Given the description of an element on the screen output the (x, y) to click on. 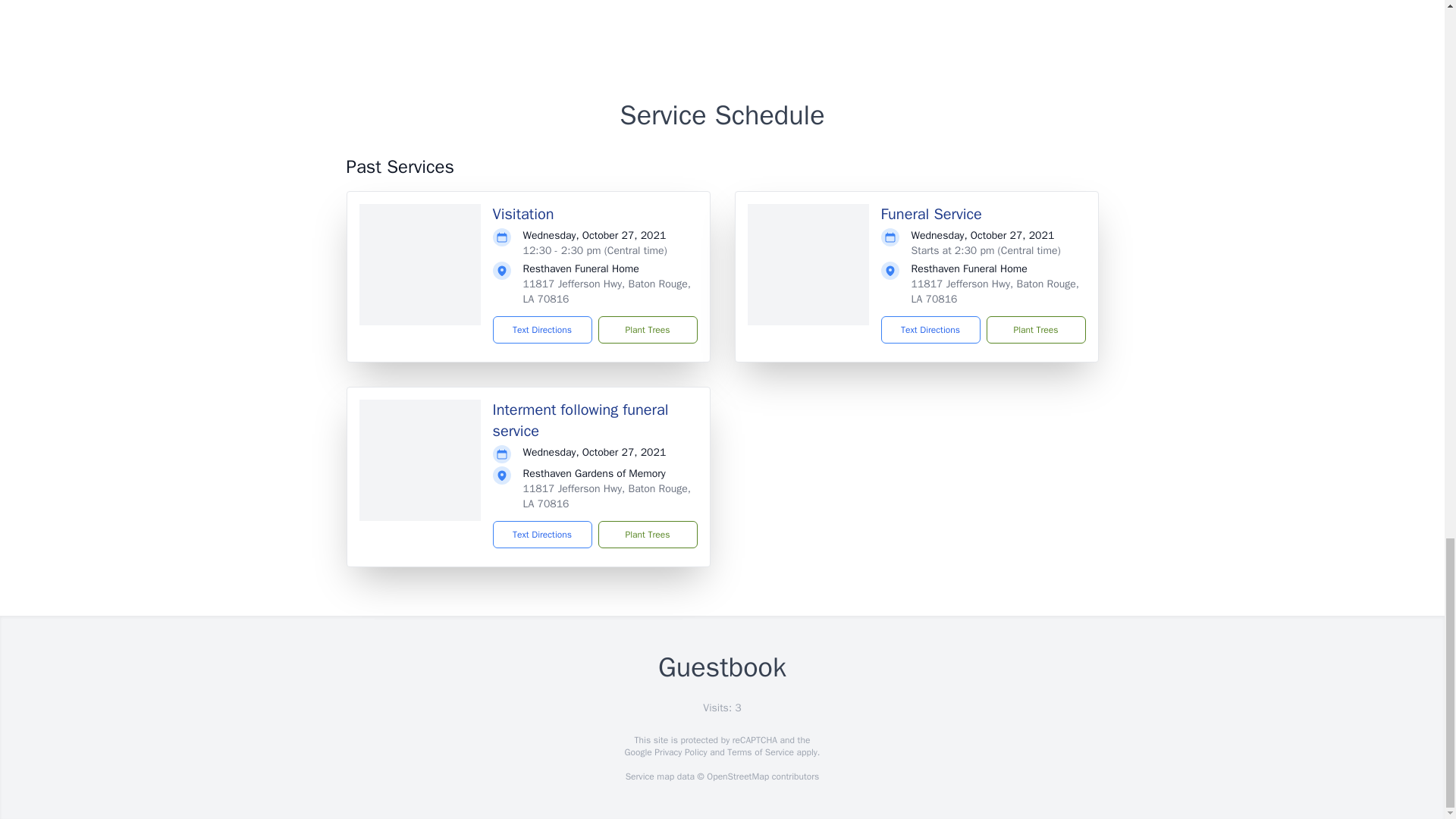
Plant Trees (1034, 329)
Text Directions (929, 329)
11817 Jefferson Hwy, Baton Rouge, LA 70816 (606, 291)
Plant Trees (646, 329)
Text Directions (542, 329)
11817 Jefferson Hwy, Baton Rouge, LA 70816 (606, 496)
Text Directions (542, 533)
11817 Jefferson Hwy, Baton Rouge, LA 70816 (995, 291)
Plant Trees (646, 533)
Privacy Policy (679, 752)
